Given the description of an element on the screen output the (x, y) to click on. 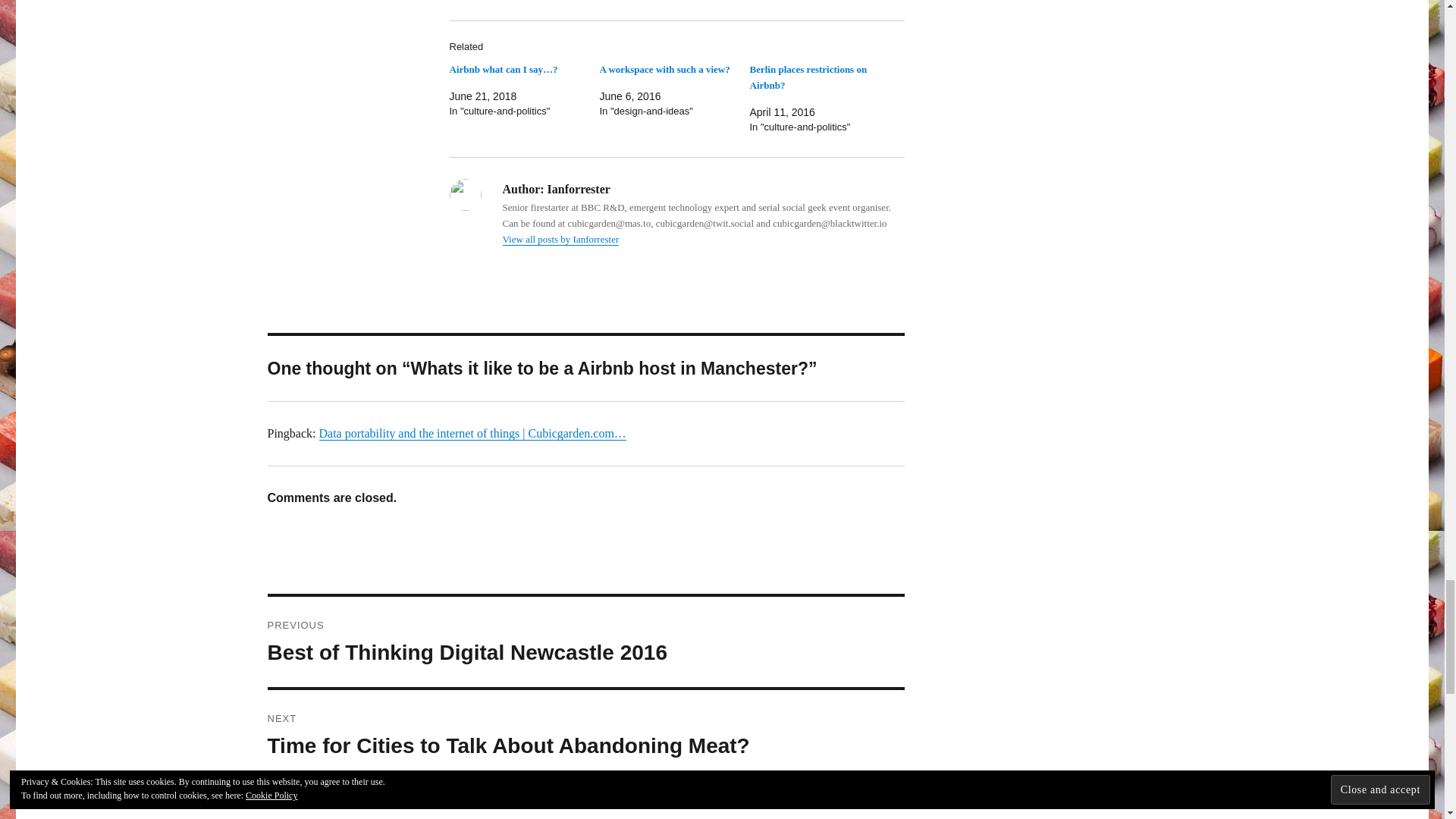
Berlin places restrictions on Airbnb? (807, 76)
Berlin places restrictions on Airbnb? (807, 76)
A workspace with such a view? (663, 69)
View all posts by Ianforrester (560, 238)
A workspace with such a view? (663, 69)
